Given the description of an element on the screen output the (x, y) to click on. 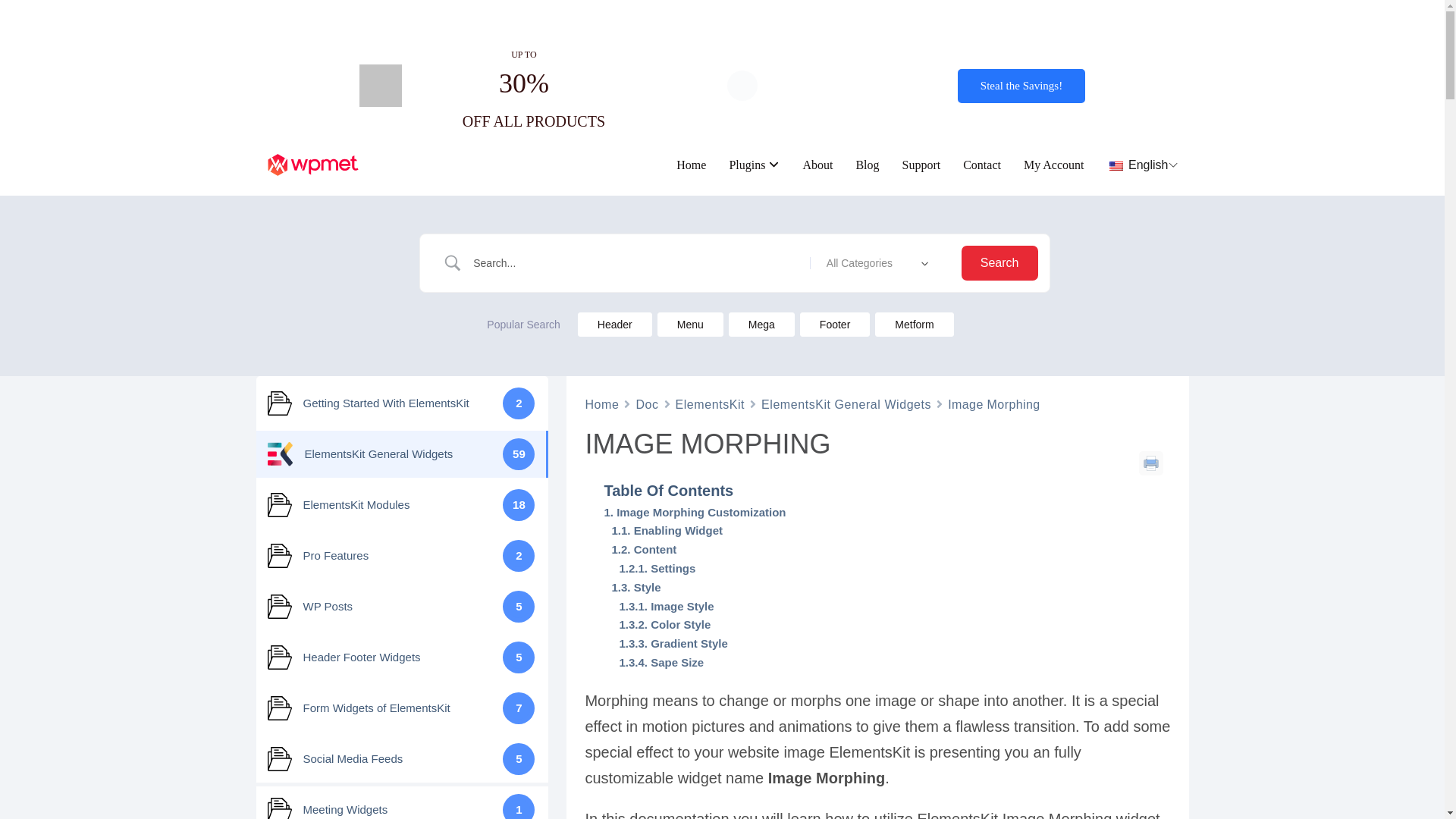
English (1115, 165)
Support (921, 165)
My Account (1053, 165)
Steal the Savings! (1021, 85)
English (1137, 164)
Plugins (747, 165)
English (1137, 164)
Search (999, 262)
Contact (981, 165)
Search (999, 262)
